Given the description of an element on the screen output the (x, y) to click on. 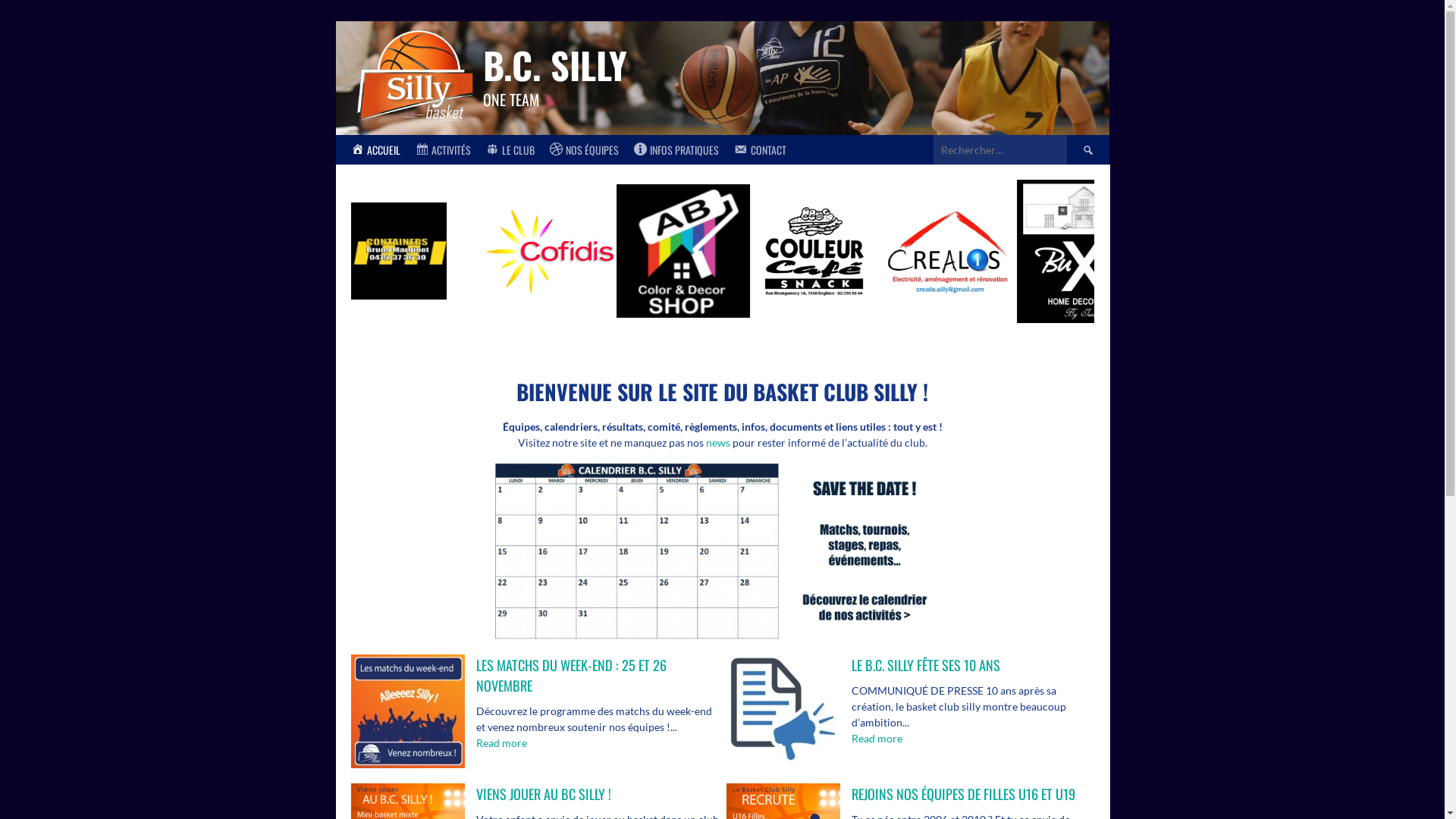
B.C. SILLY Element type: text (555, 64)
INFOS PRATIQUES Element type: text (676, 149)
Rechercher Element type: hover (1087, 149)
VIENS JOUER AU BC SILLY ! Element type: text (543, 793)
CONTACT Element type: text (759, 149)
LES MATCHS DU WEEK-END : 25 ET 26 NOVEMBRE Element type: text (571, 674)
Read more Element type: text (875, 737)
Read more Element type: text (501, 742)
news Element type: text (717, 442)
LE CLUB Element type: text (510, 149)
ACCUEIL Element type: text (374, 149)
